Given the description of an element on the screen output the (x, y) to click on. 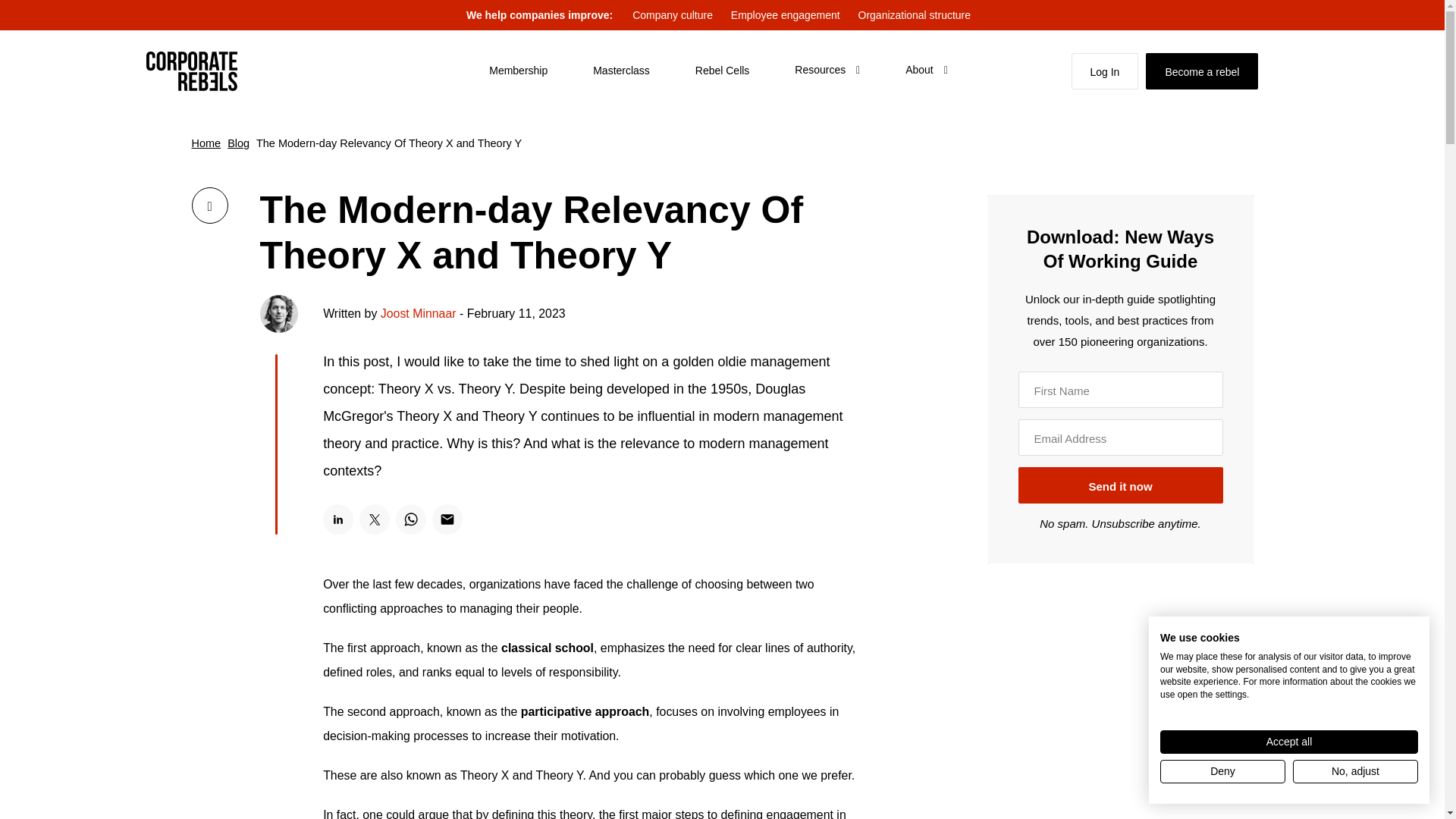
Membership (518, 70)
Organizational structure (915, 15)
Log In (1104, 71)
LiveChat chat widget (1412, 787)
Send it now (1120, 484)
Blog (237, 143)
Rebel Cells (722, 70)
Become a rebel (1201, 71)
Joost Minnaar (418, 313)
Employee engagement (785, 15)
Home (205, 143)
Masterclass (620, 70)
Company culture (672, 15)
